Given the description of an element on the screen output the (x, y) to click on. 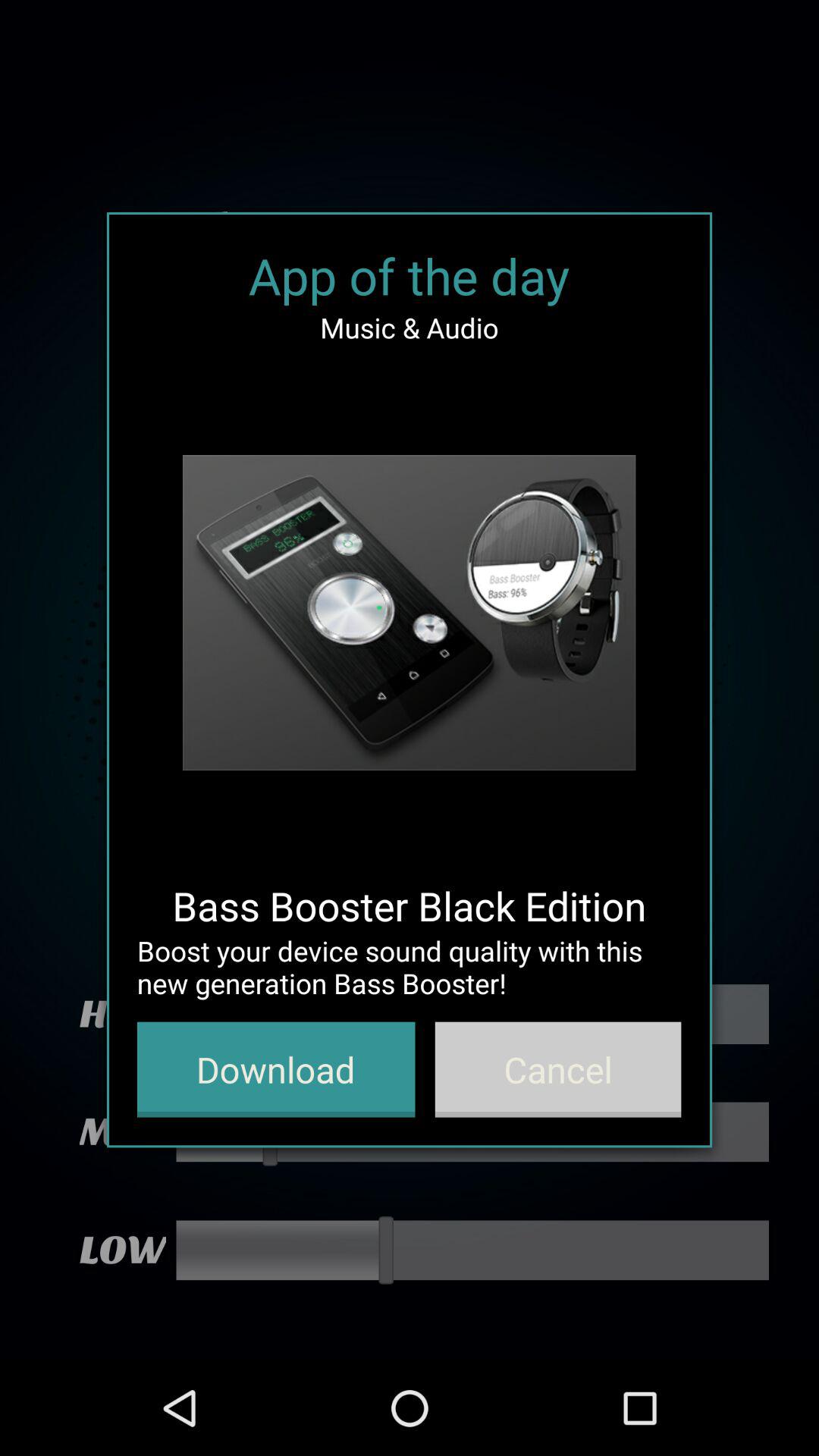
click the item next to download (558, 1069)
